Given the description of an element on the screen output the (x, y) to click on. 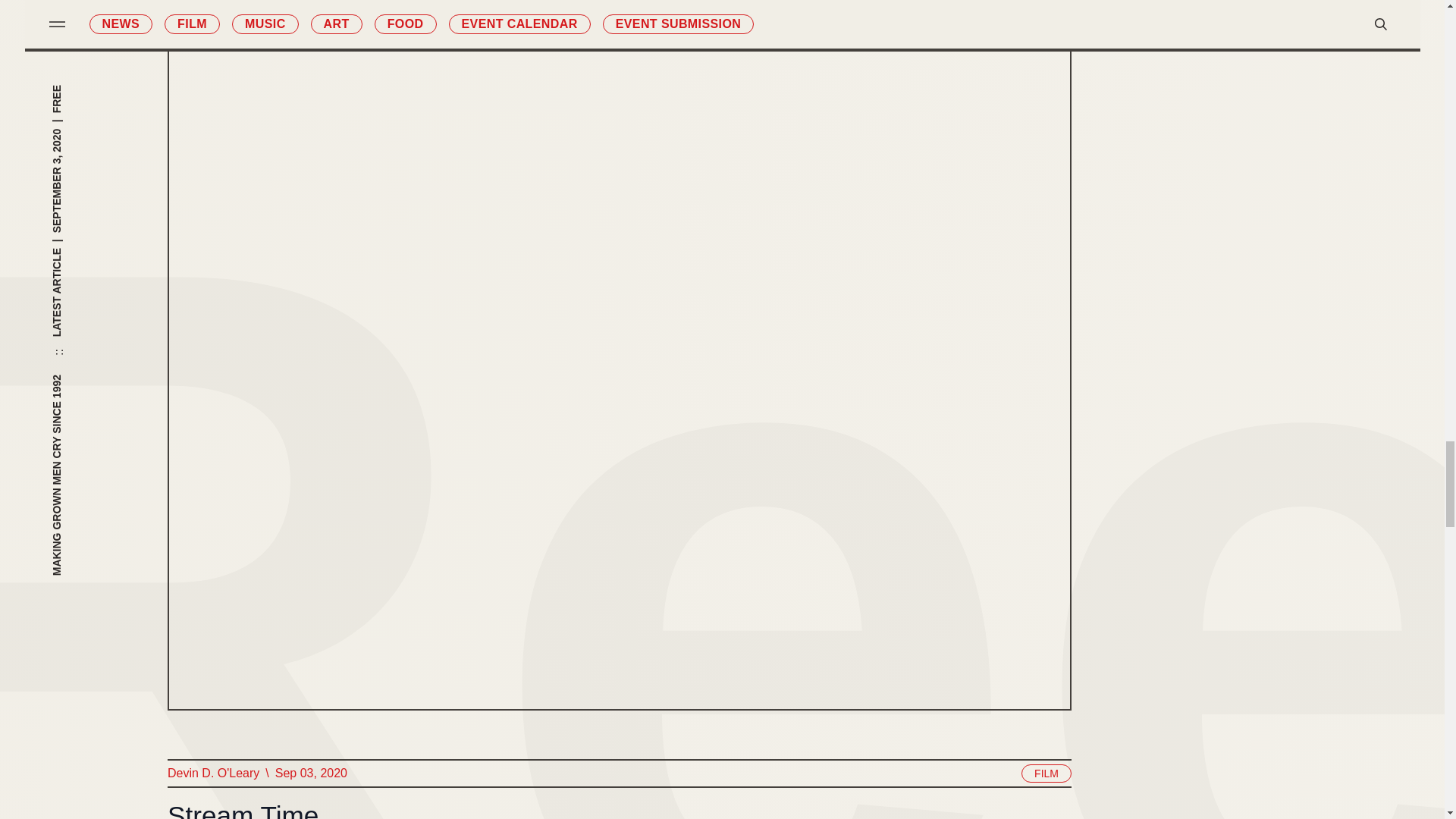
FILM (1046, 773)
Devin D. O'Leary (213, 772)
